Given the description of an element on the screen output the (x, y) to click on. 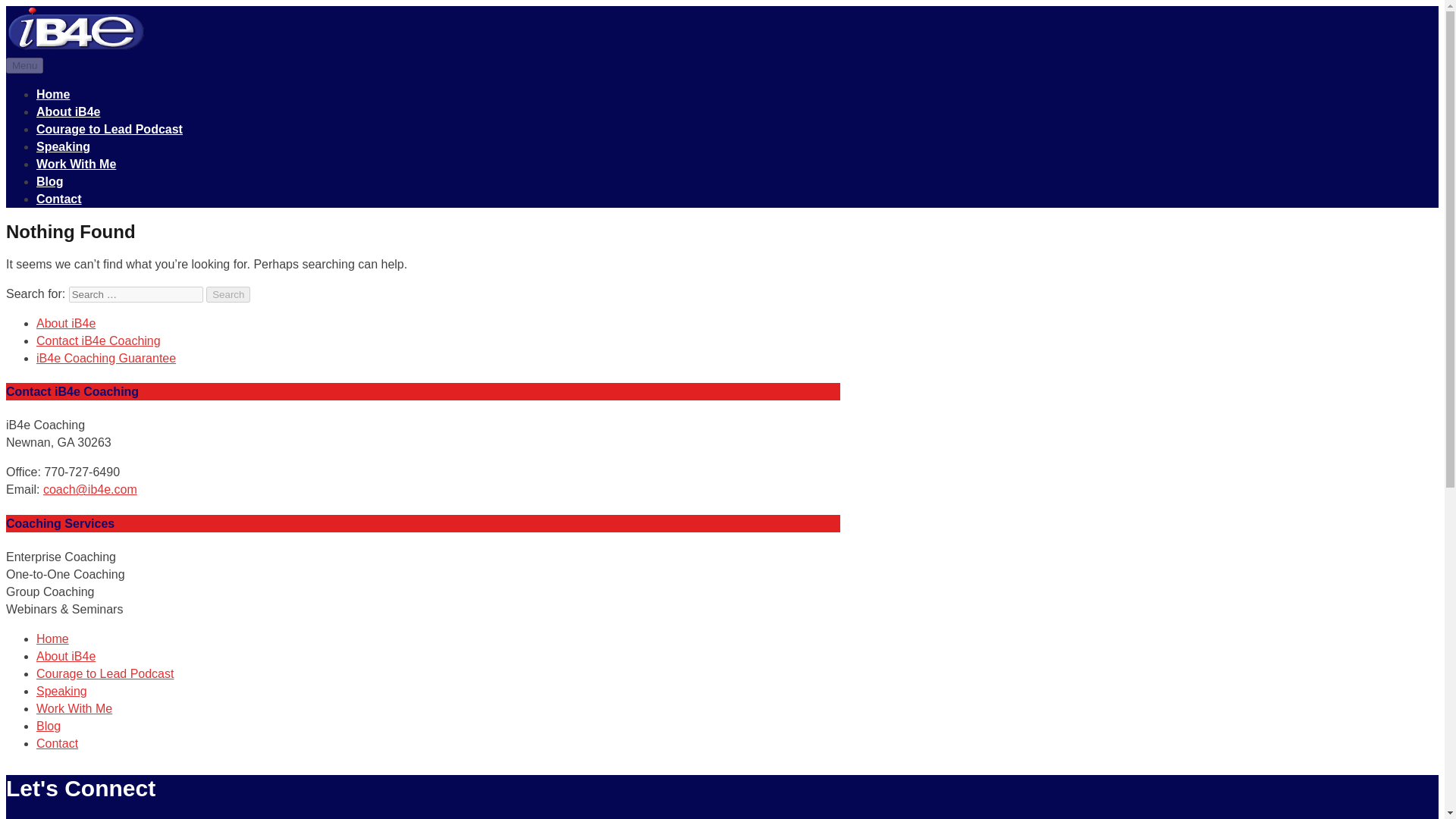
Blog (48, 725)
Speaking (61, 690)
Contact (57, 743)
Search (228, 294)
About iB4e (66, 656)
Work With Me (74, 707)
About iB4e (68, 111)
iB4e Coaching Guarantee (106, 358)
Work With Me (76, 164)
About iB4e (66, 323)
Contact (58, 198)
Home (52, 638)
Courage to Lead Podcast (109, 128)
Blog (50, 181)
Search (228, 294)
